Given the description of an element on the screen output the (x, y) to click on. 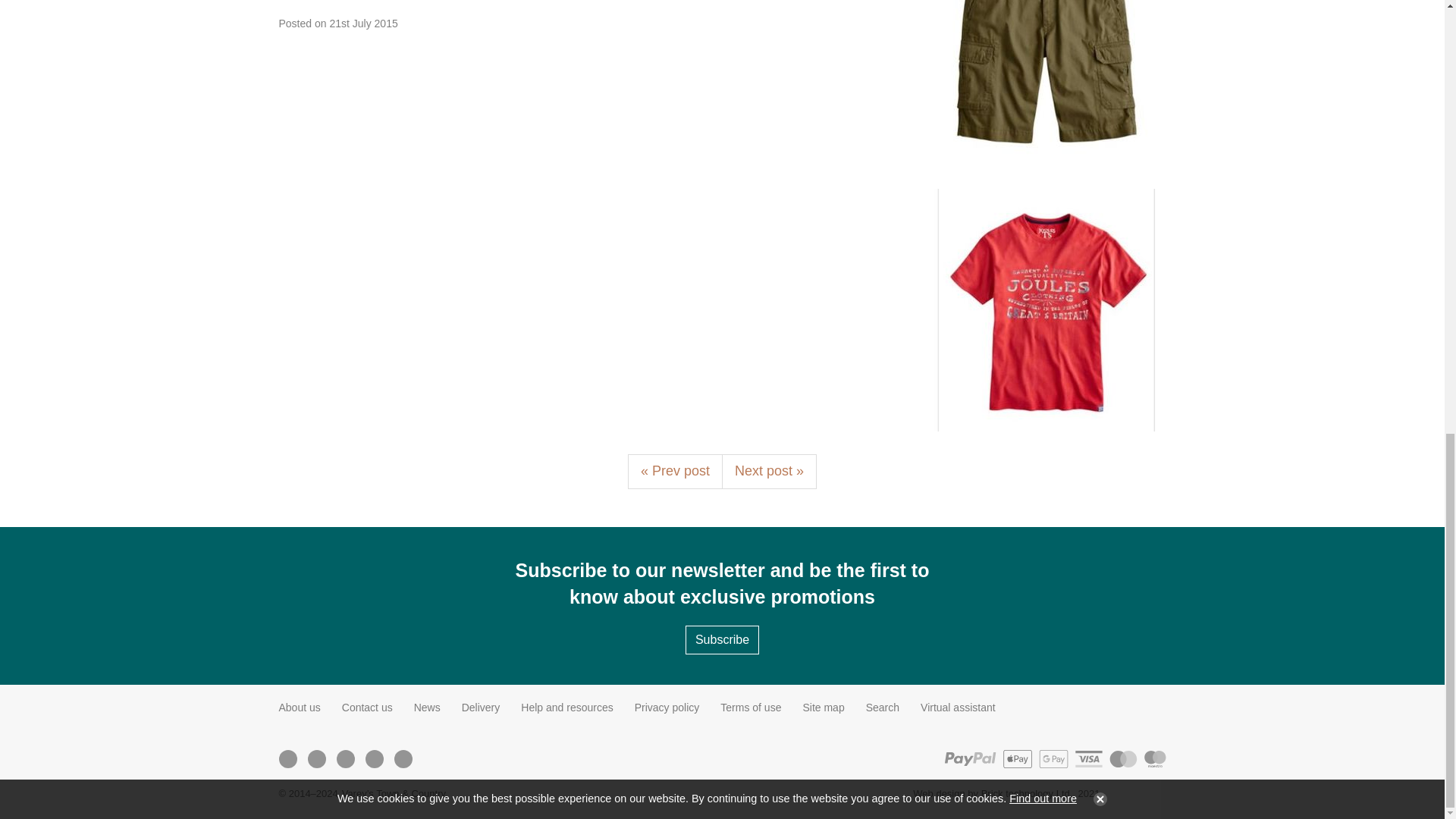
T-Shirt GB (1044, 310)
Newsletter (402, 758)
Instagram (344, 758)
LinkedIn (373, 758)
Facebook (287, 758)
Cargo Shorts, Fir tree garden (1044, 83)
Website designed and maintained by Brick technology Ltd. (1139, 793)
Twitter (315, 758)
